Given the description of an element on the screen output the (x, y) to click on. 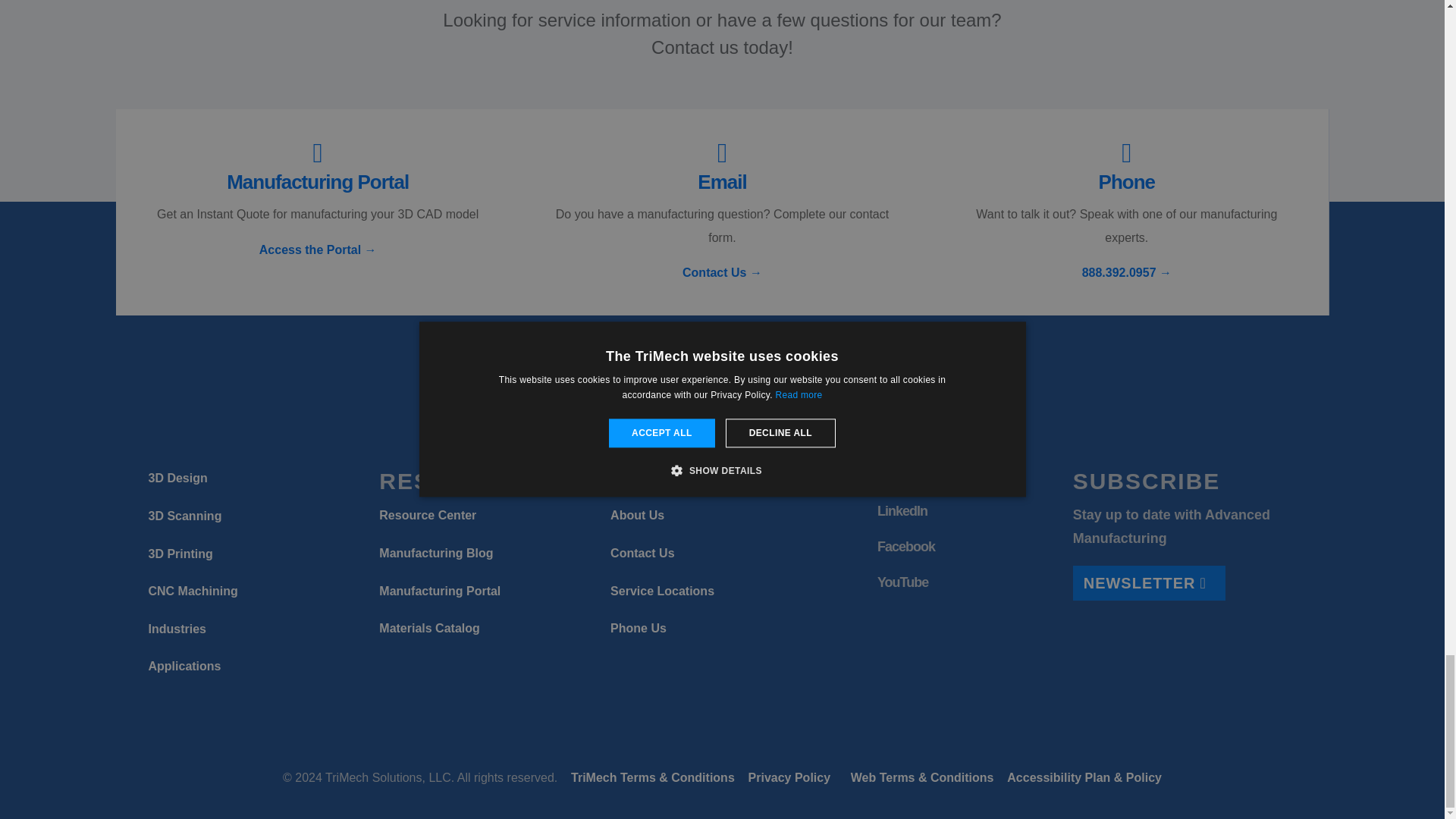
trimech-notag-1color-white (722, 395)
